Given the description of an element on the screen output the (x, y) to click on. 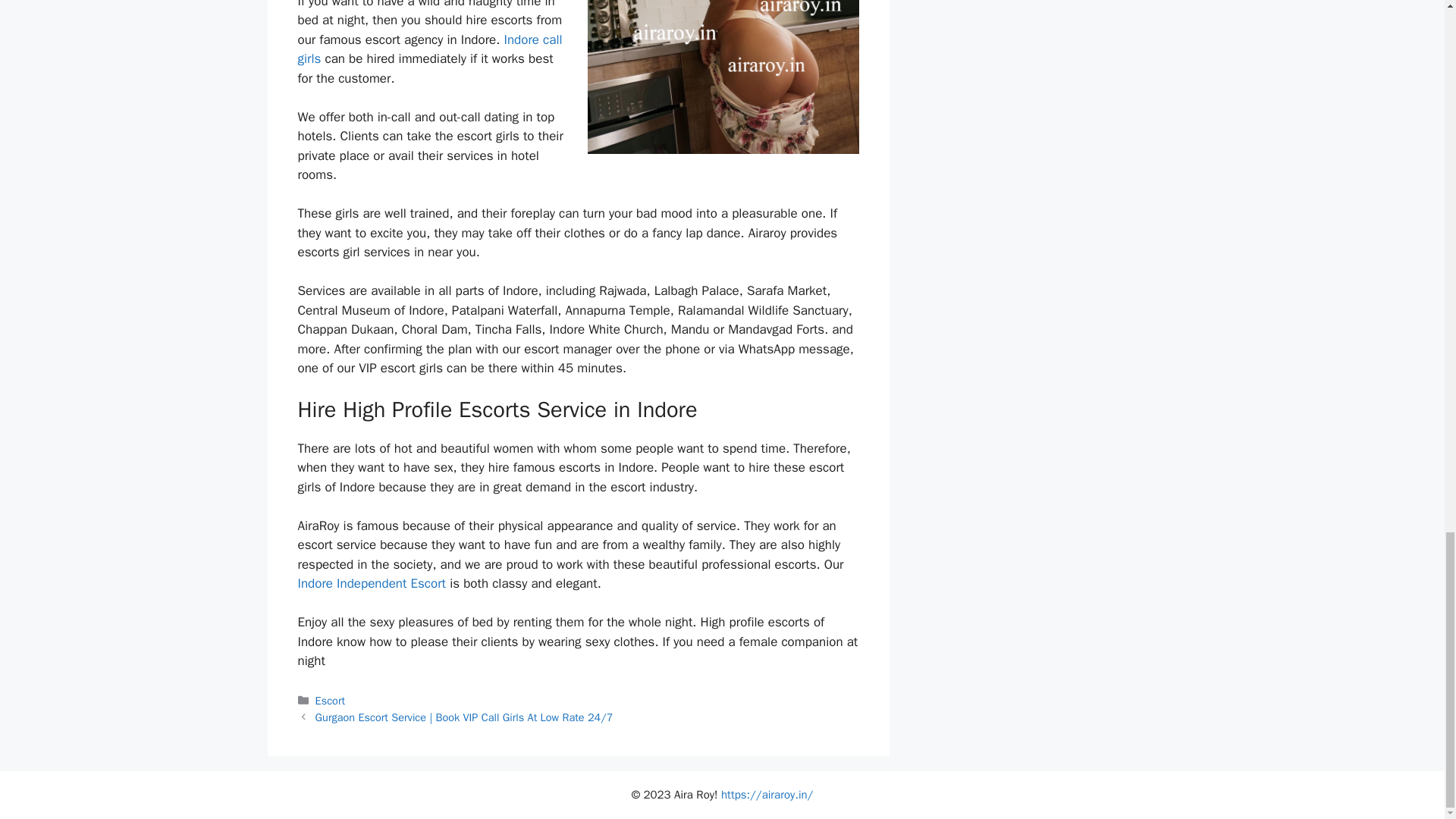
Indore Independent Escort (371, 583)
Escort (330, 700)
Indore call girls (429, 49)
